Given the description of an element on the screen output the (x, y) to click on. 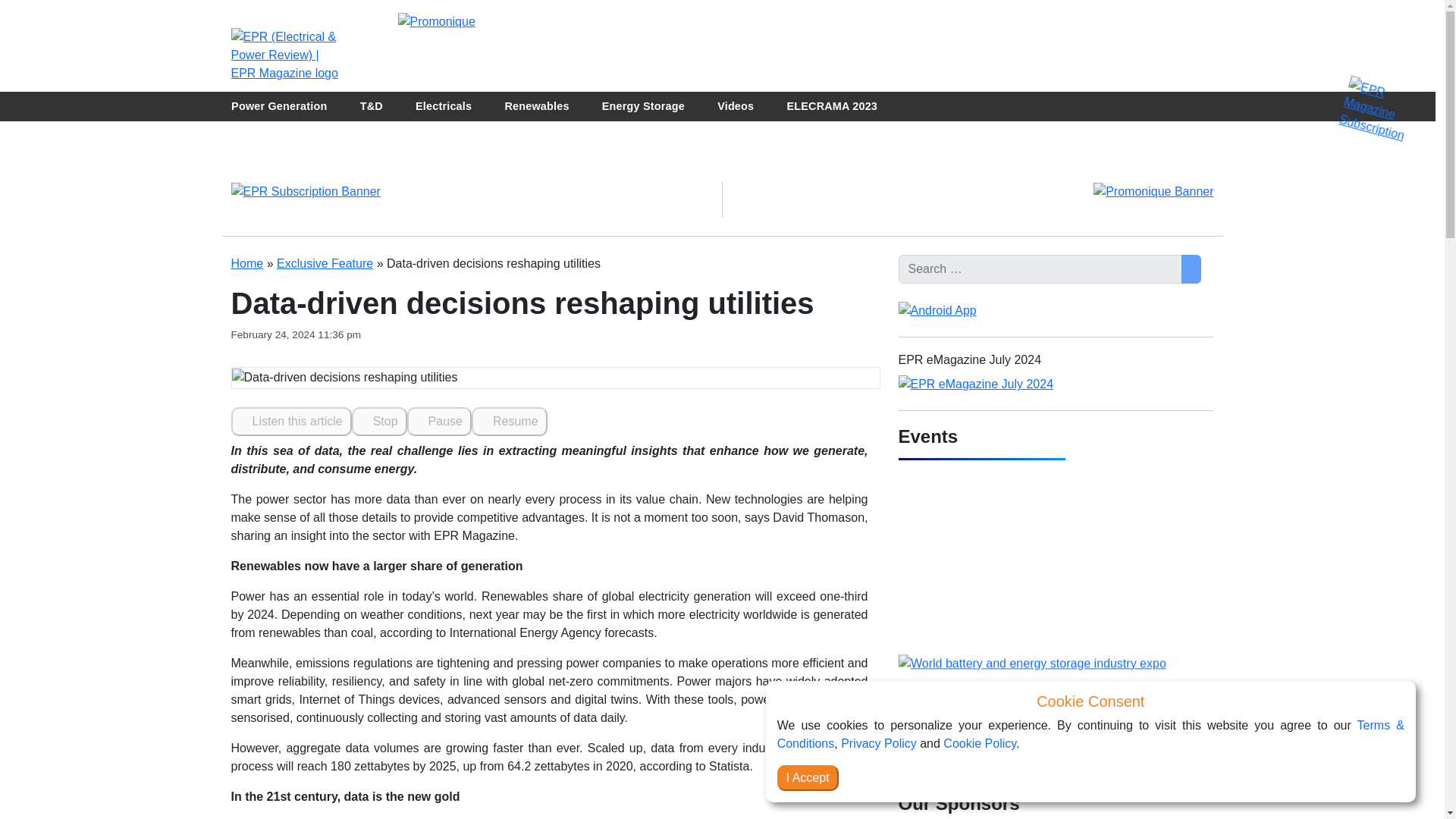
Renewables (536, 106)
Resume (509, 421)
ELECRAMA 2023 (831, 106)
Data-driven decisions reshaping utilities (344, 377)
Exclusive Feature (324, 263)
I Accept (807, 777)
Cookie Policy (979, 743)
Electricals (442, 106)
Home (246, 263)
Subscribe to magazine (1374, 102)
